Given the description of an element on the screen output the (x, y) to click on. 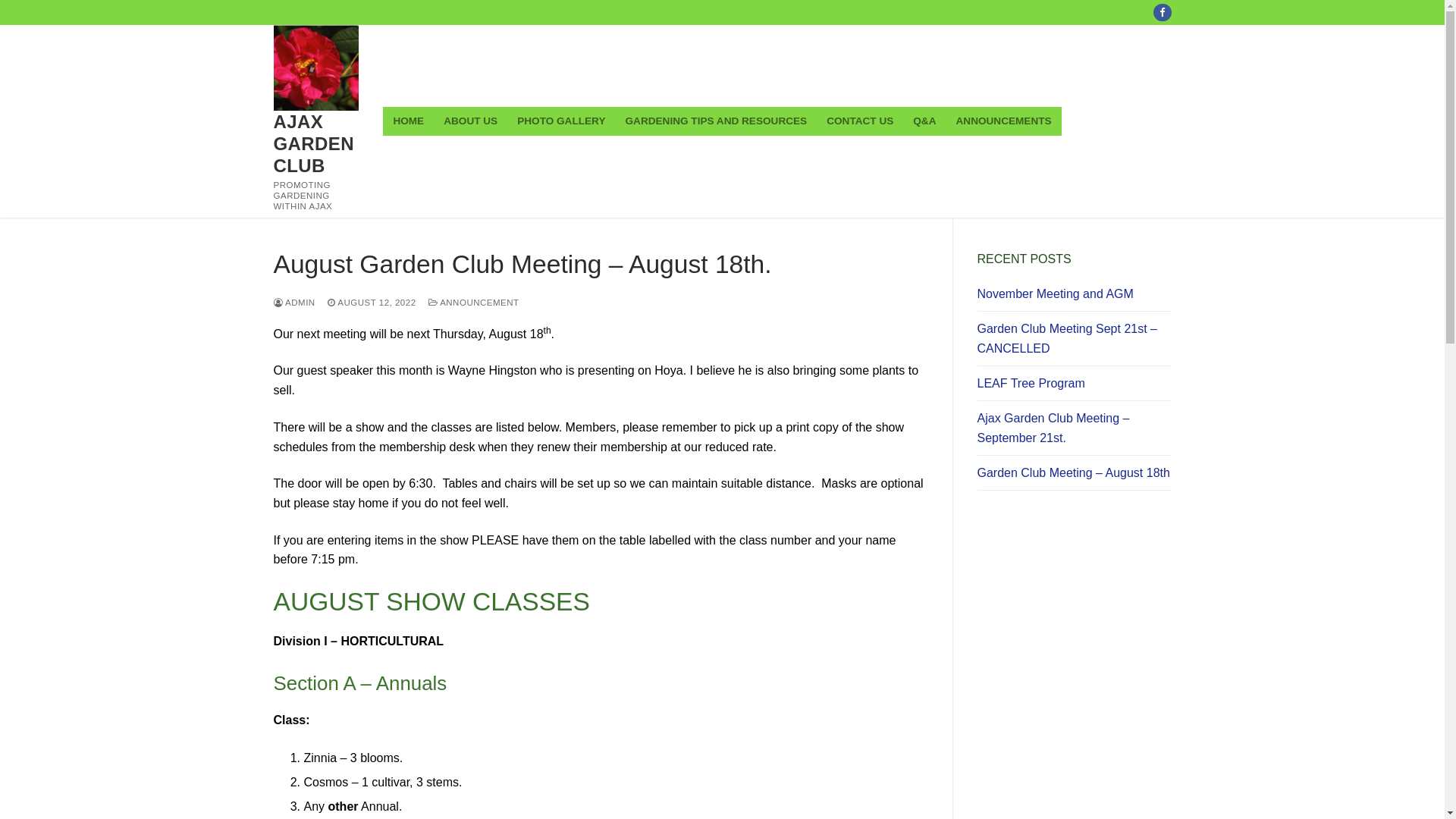
ABOUT US Element type: text (470, 120)
ANNOUNCEMENTS Element type: text (1003, 120)
ADMIN Element type: text (293, 302)
HOME Element type: text (407, 120)
LEAF Tree Program Element type: text (1073, 387)
ANNOUNCEMENT Element type: text (473, 302)
November Meeting and AGM Element type: text (1073, 297)
Facebook Element type: hover (1162, 12)
AUGUST 12, 2022 Element type: text (371, 302)
CONTACT US Element type: text (859, 120)
Q&A Element type: text (924, 120)
GARDENING TIPS AND RESOURCES Element type: text (715, 120)
PHOTO GALLERY Element type: text (561, 120)
AJAX GARDEN CLUB Element type: text (315, 143)
